Given the description of an element on the screen output the (x, y) to click on. 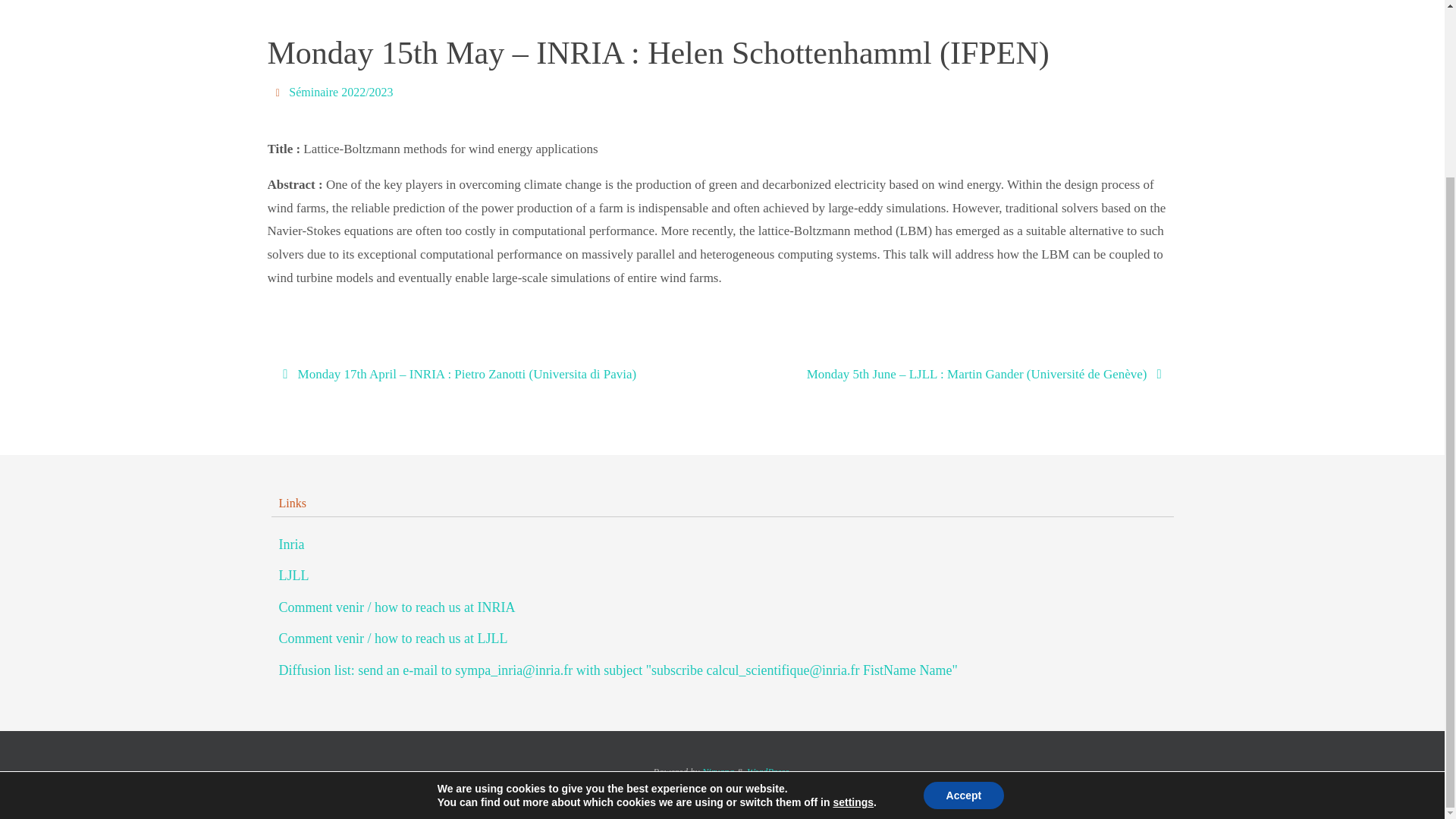
Accept (963, 578)
WordPress. (769, 771)
Inria (291, 544)
Semantic Personal Publishing Platform (769, 771)
settings (852, 585)
Categories (278, 91)
Nirvana (718, 771)
Nirvana Theme by Cryout Creations (718, 771)
LJLL (293, 575)
